Given the description of an element on the screen output the (x, y) to click on. 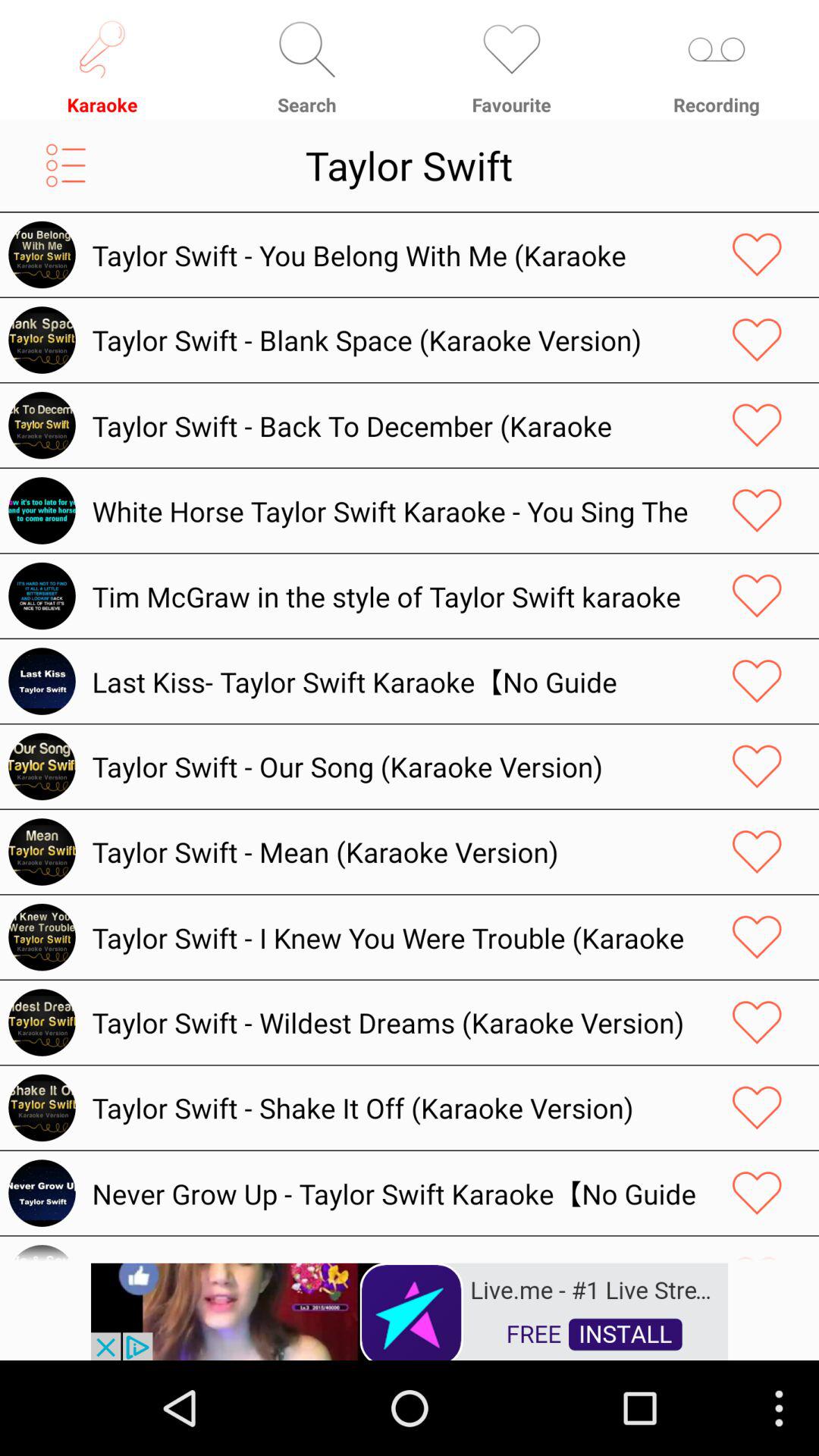
like a music (756, 254)
